Given the description of an element on the screen output the (x, y) to click on. 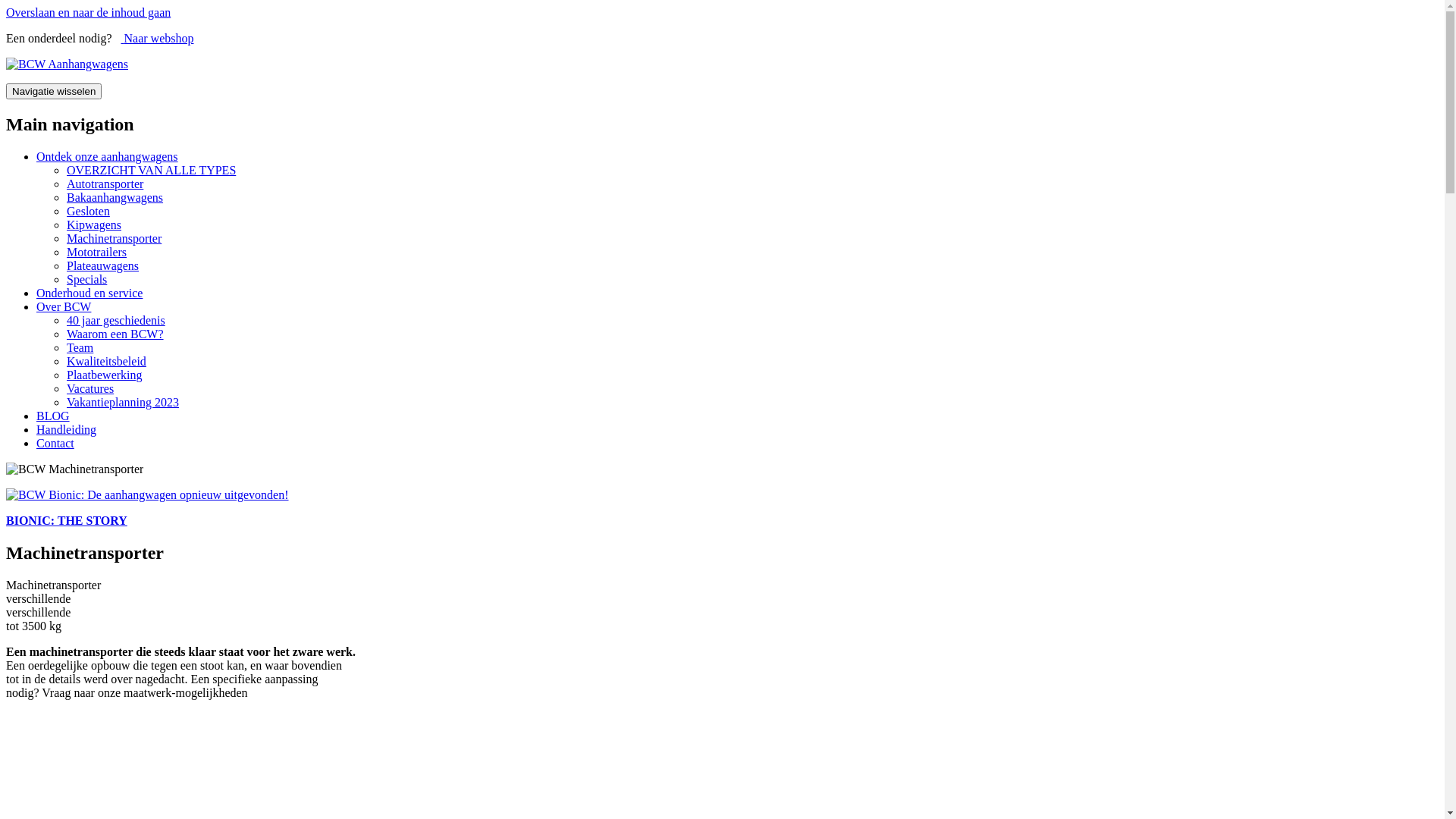
BIONIC: THE STORY Element type: text (66, 520)
Mototrailers Element type: text (96, 251)
Plaatbewerking Element type: text (104, 374)
Gesloten Element type: text (87, 210)
Kipwagens Element type: text (93, 224)
Bionic Element type: hover (147, 494)
Navigatie wisselen Element type: text (53, 91)
Autotransporter Element type: text (104, 183)
Ontdek onze aanhangwagens Element type: text (107, 156)
 Naar webshop Element type: text (157, 37)
Team Element type: text (79, 347)
Kwaliteitsbeleid Element type: text (106, 360)
Bakaanhangwagens Element type: text (114, 197)
Specials Element type: text (86, 279)
Plateauwagens Element type: text (102, 265)
Handleiding Element type: text (66, 429)
BIONIC: THE STORY Element type: text (722, 507)
BLOG Element type: text (52, 415)
BCW Aanhangwagens Element type: hover (67, 63)
Over BCW Element type: text (63, 306)
Onderhoud en service Element type: text (89, 292)
OVERZICHT VAN ALLE TYPES Element type: text (150, 169)
Waarom een BCW? Element type: text (114, 333)
Machinetransporter Element type: text (113, 238)
40 jaar geschiedenis Element type: text (115, 319)
Contact Element type: text (55, 442)
Overslaan en naar de inhoud gaan Element type: text (88, 12)
Vacatures Element type: text (89, 388)
Vakantieplanning 2023 Element type: text (122, 401)
